Given the description of an element on the screen output the (x, y) to click on. 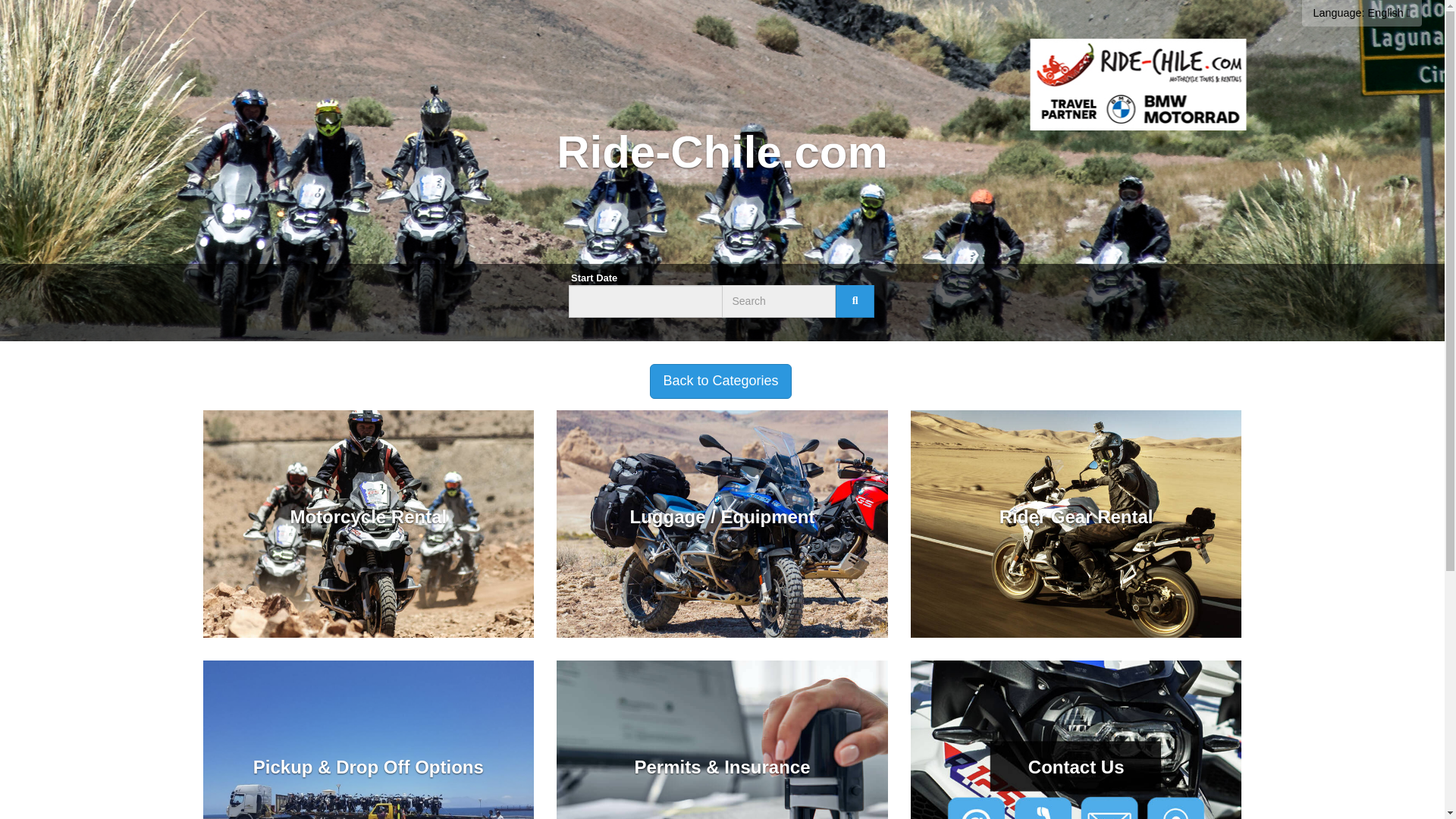
Language: English (1361, 13)
Back to Categories (719, 380)
